Given the description of an element on the screen output the (x, y) to click on. 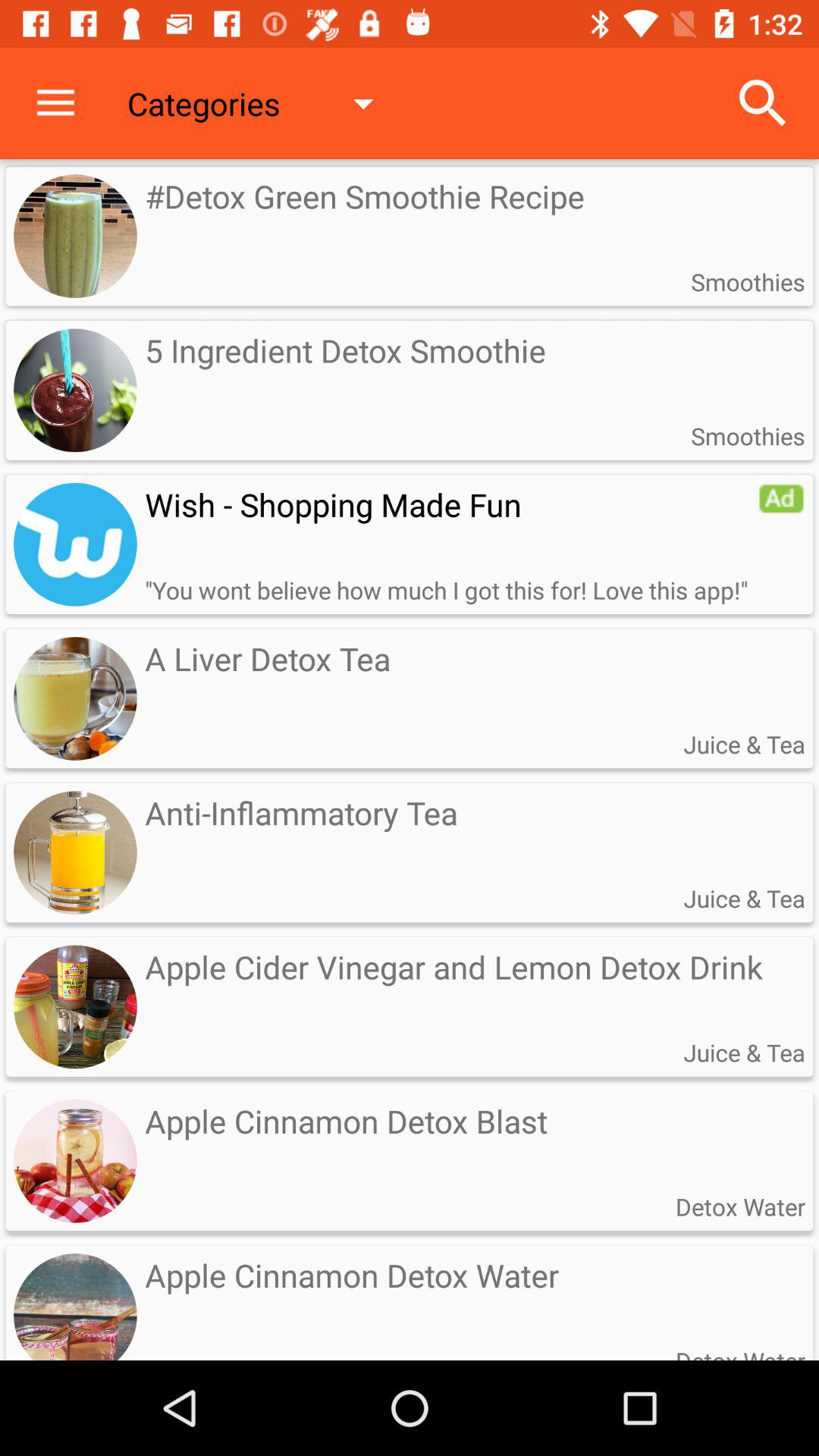
open advertisement (75, 544)
